Given the description of an element on the screen output the (x, y) to click on. 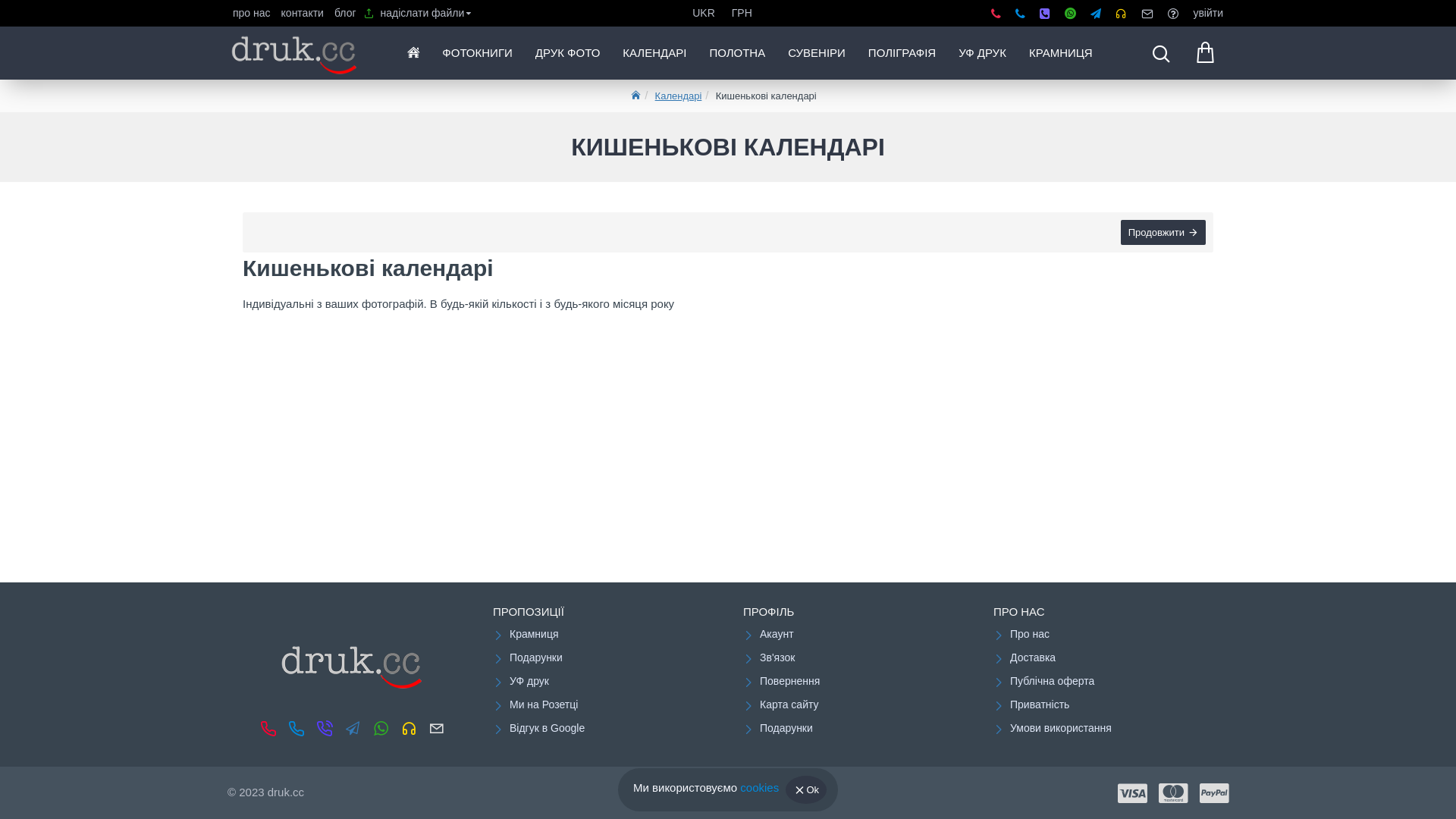
UKR Element type: text (705, 13)
Ok Element type: text (805, 789)
cookies Element type: text (759, 788)
druk.cc Element type: hover (294, 53)
